Given the description of an element on the screen output the (x, y) to click on. 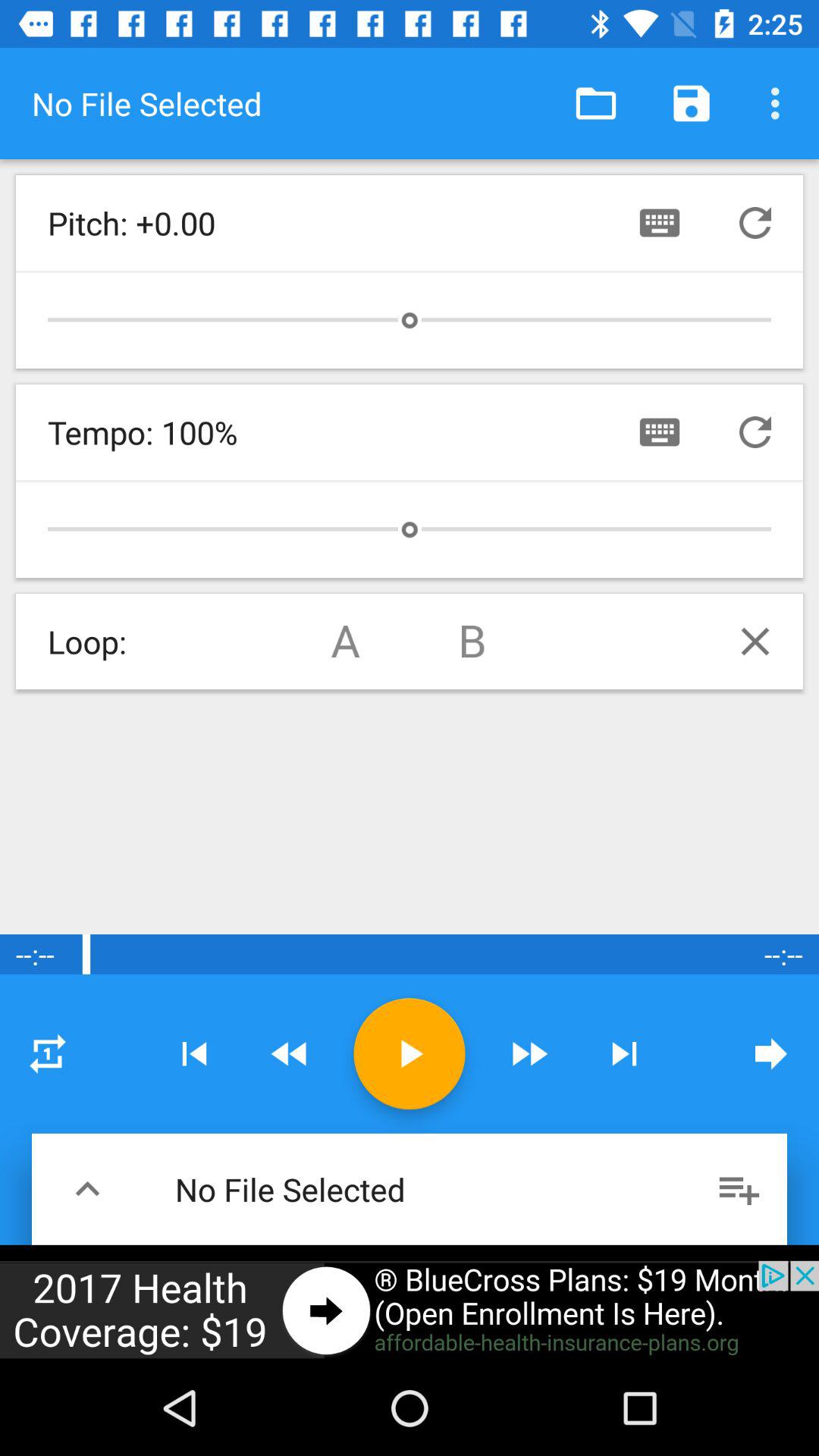
go reverse (289, 1053)
